Given the description of an element on the screen output the (x, y) to click on. 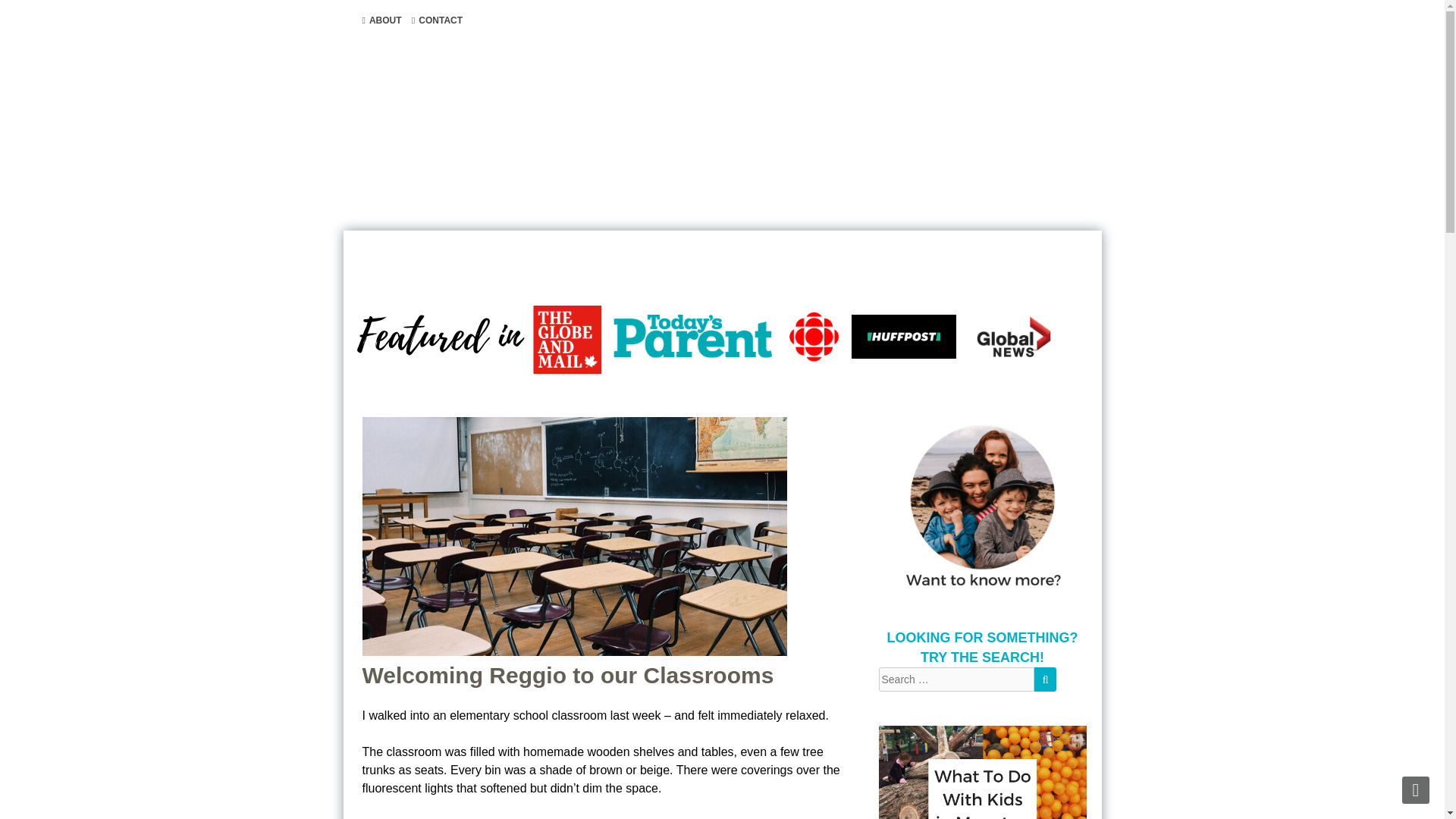
Playground Profiles (472, 209)
Home (373, 209)
What is Pickle Planet? (978, 209)
Op Ed Columns (840, 209)
CONTACT (433, 20)
Search (1045, 679)
Podcast (579, 209)
What To Do In Moncton (698, 209)
ABOUT (379, 20)
